Given the description of an element on the screen output the (x, y) to click on. 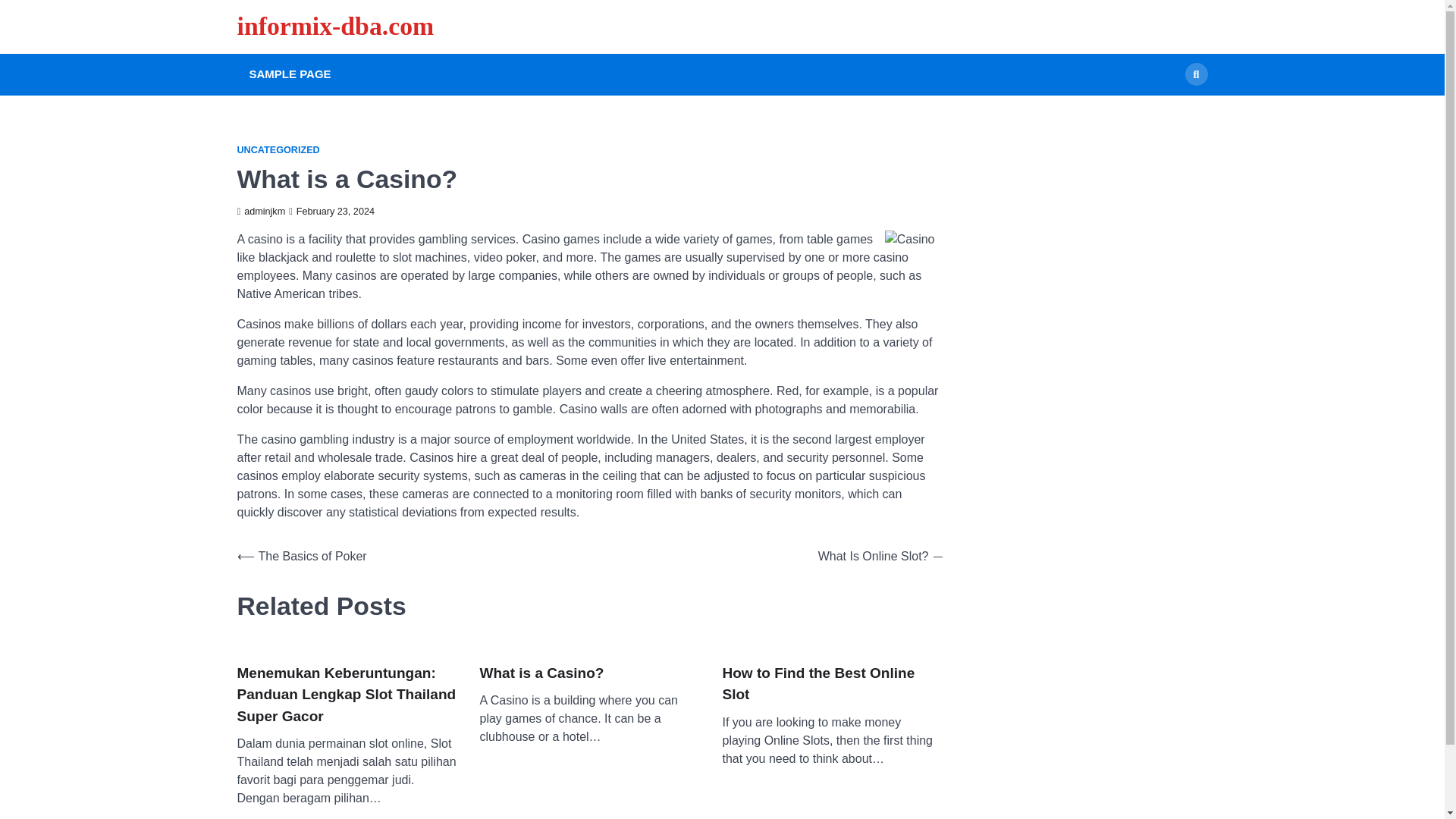
informix-dba.com (334, 26)
UNCATEGORIZED (276, 150)
adminjkm (260, 211)
What is a Casino? (541, 673)
How to Find the Best Online Slot (832, 683)
February 23, 2024 (331, 211)
SAMPLE PAGE (289, 74)
Search (1196, 74)
Search (1168, 109)
